Given the description of an element on the screen output the (x, y) to click on. 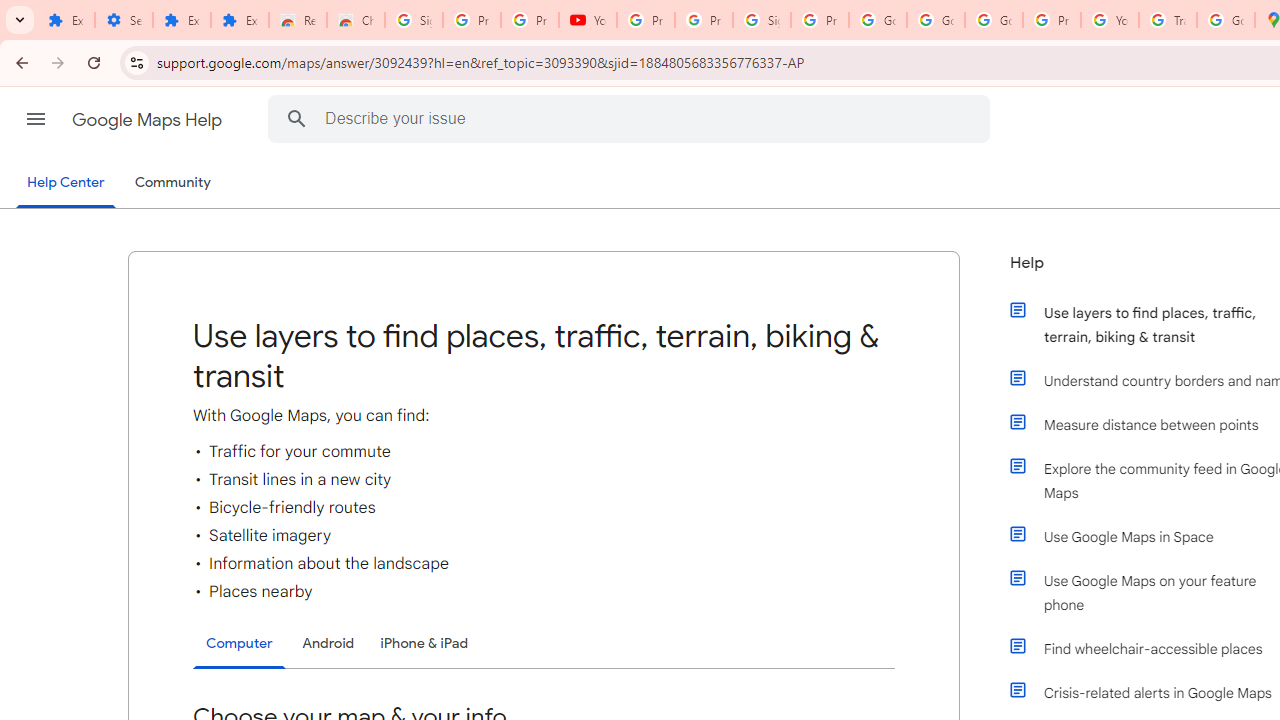
Community (171, 183)
Extensions (65, 20)
Chrome Web Store - Themes (355, 20)
YouTube (587, 20)
iPhone & iPad (424, 642)
